Given the description of an element on the screen output the (x, y) to click on. 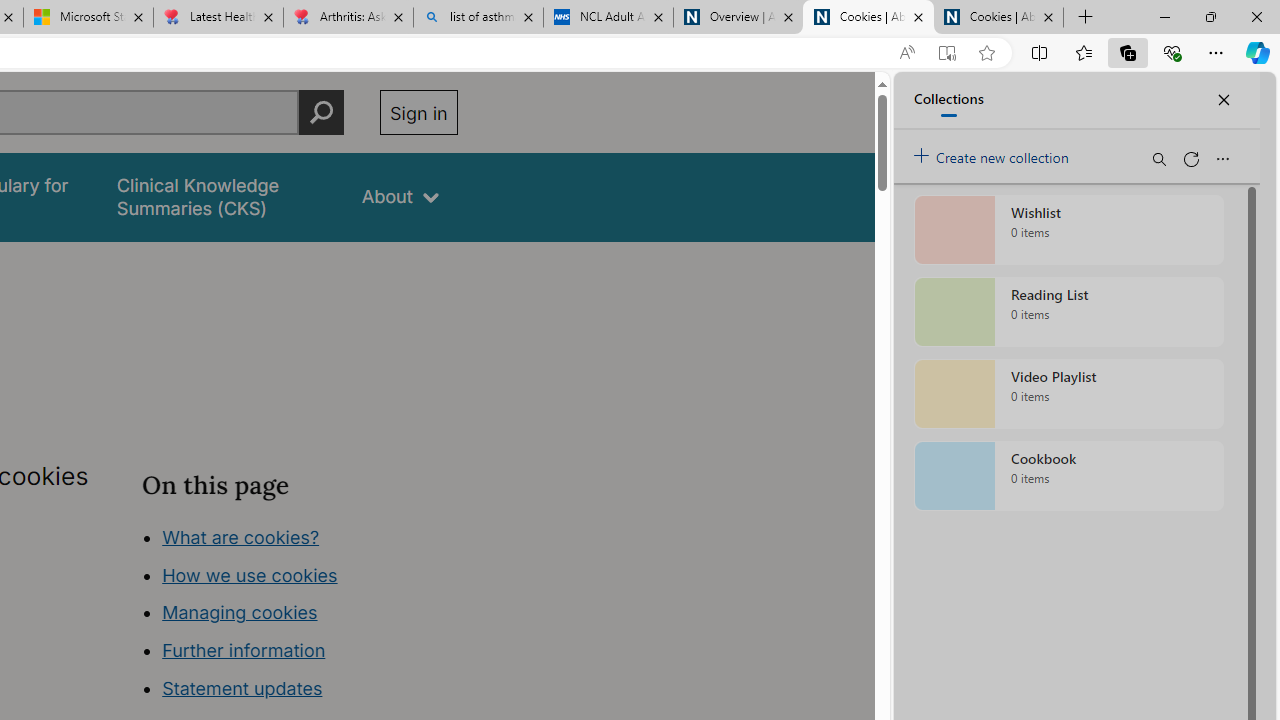
Add this page to favorites (Ctrl+D) (986, 53)
Cookies | About | NICE (998, 17)
New Tab (1085, 17)
Enter Immersive Reader (F9) (946, 53)
Class: in-page-nav__list (299, 615)
Collections (1128, 52)
false (221, 196)
What are cookies? (241, 536)
Further information (244, 650)
Sign in (418, 112)
Minimize (1164, 16)
Split screen (1039, 52)
Close tab (1048, 16)
How we use cookies (249, 574)
